Given the description of an element on the screen output the (x, y) to click on. 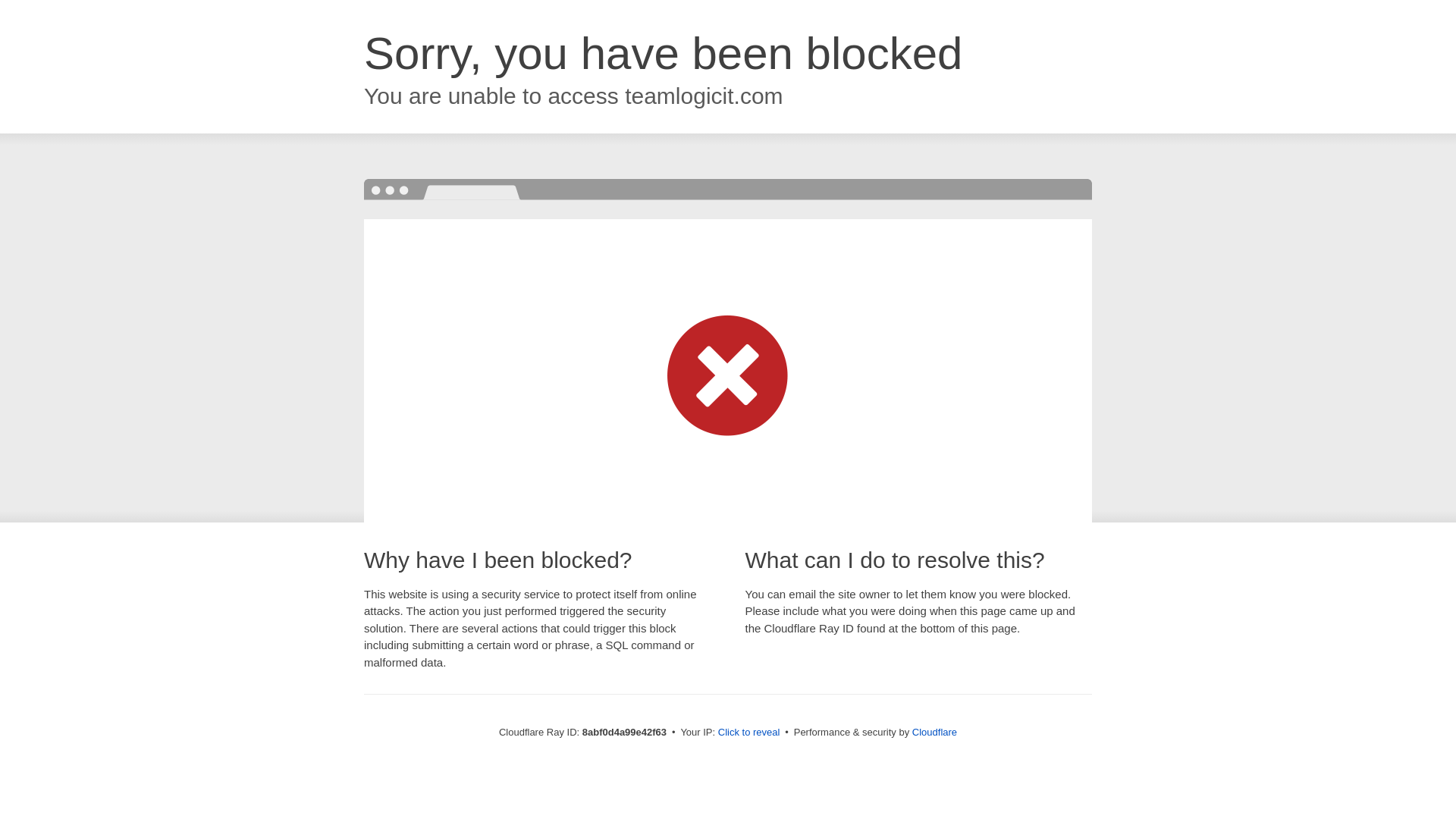
Click to reveal (748, 732)
Cloudflare (934, 731)
